Given the description of an element on the screen output the (x, y) to click on. 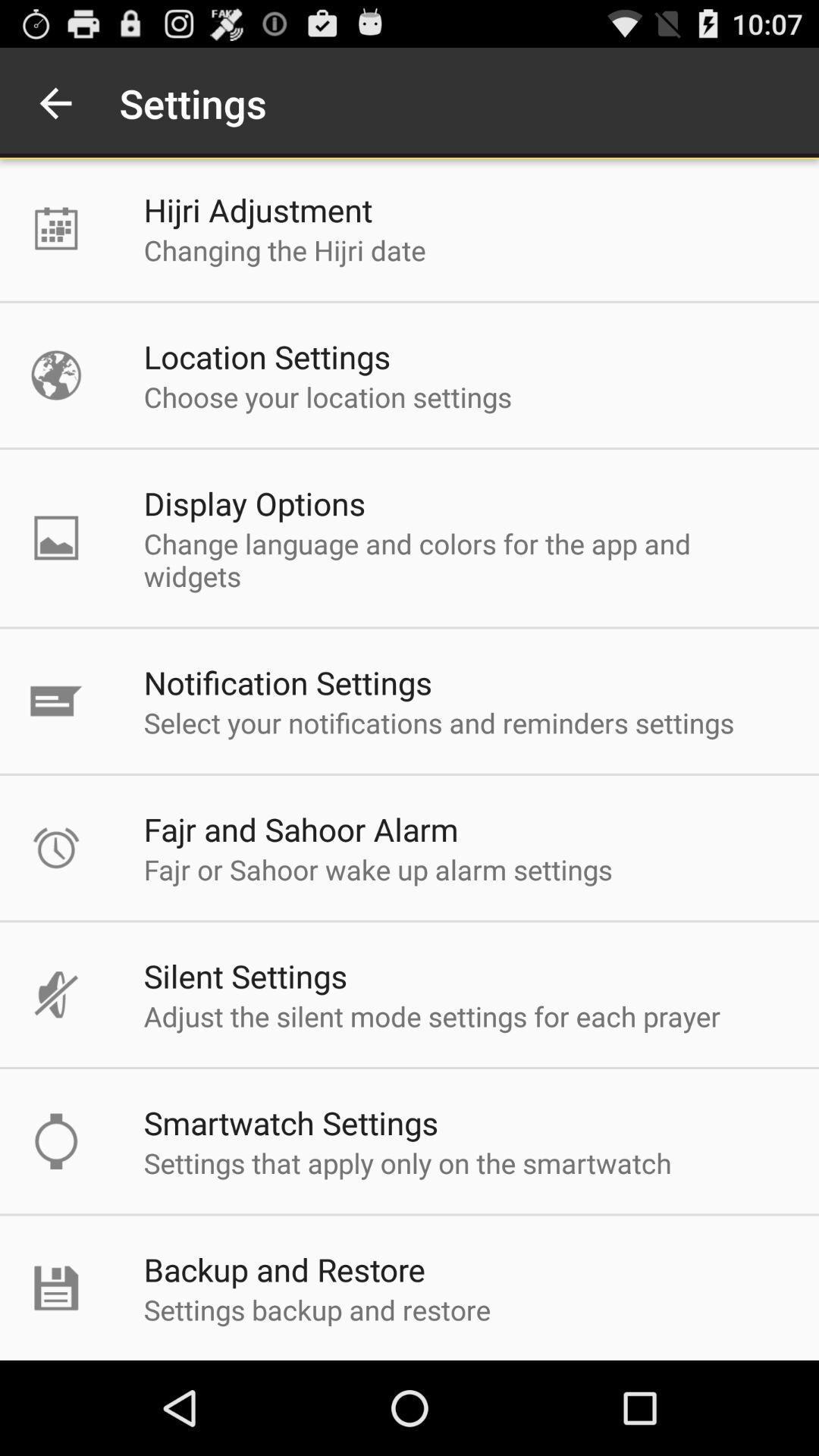
select the display options icon (254, 502)
